Given the description of an element on the screen output the (x, y) to click on. 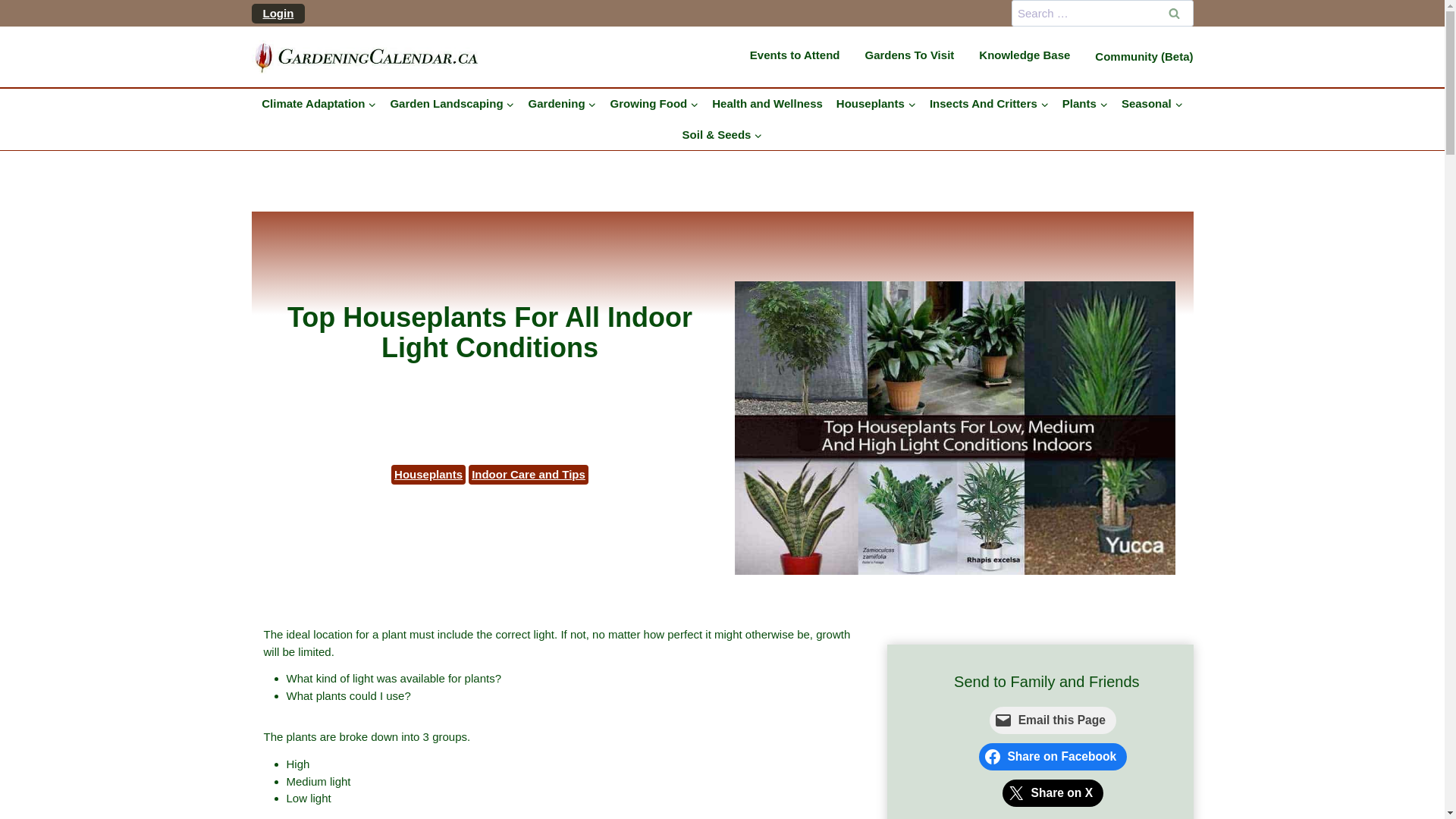
Search (1174, 13)
Events to Attend (800, 56)
Log In (300, 155)
Climate Adaptation (318, 103)
Login (278, 11)
Gardening (562, 103)
Gardens To Visit (914, 56)
Search (1174, 13)
Garden Landscaping (451, 103)
Growing Food (655, 103)
Knowledge Base (1029, 56)
Search (1174, 13)
